Given the description of an element on the screen output the (x, y) to click on. 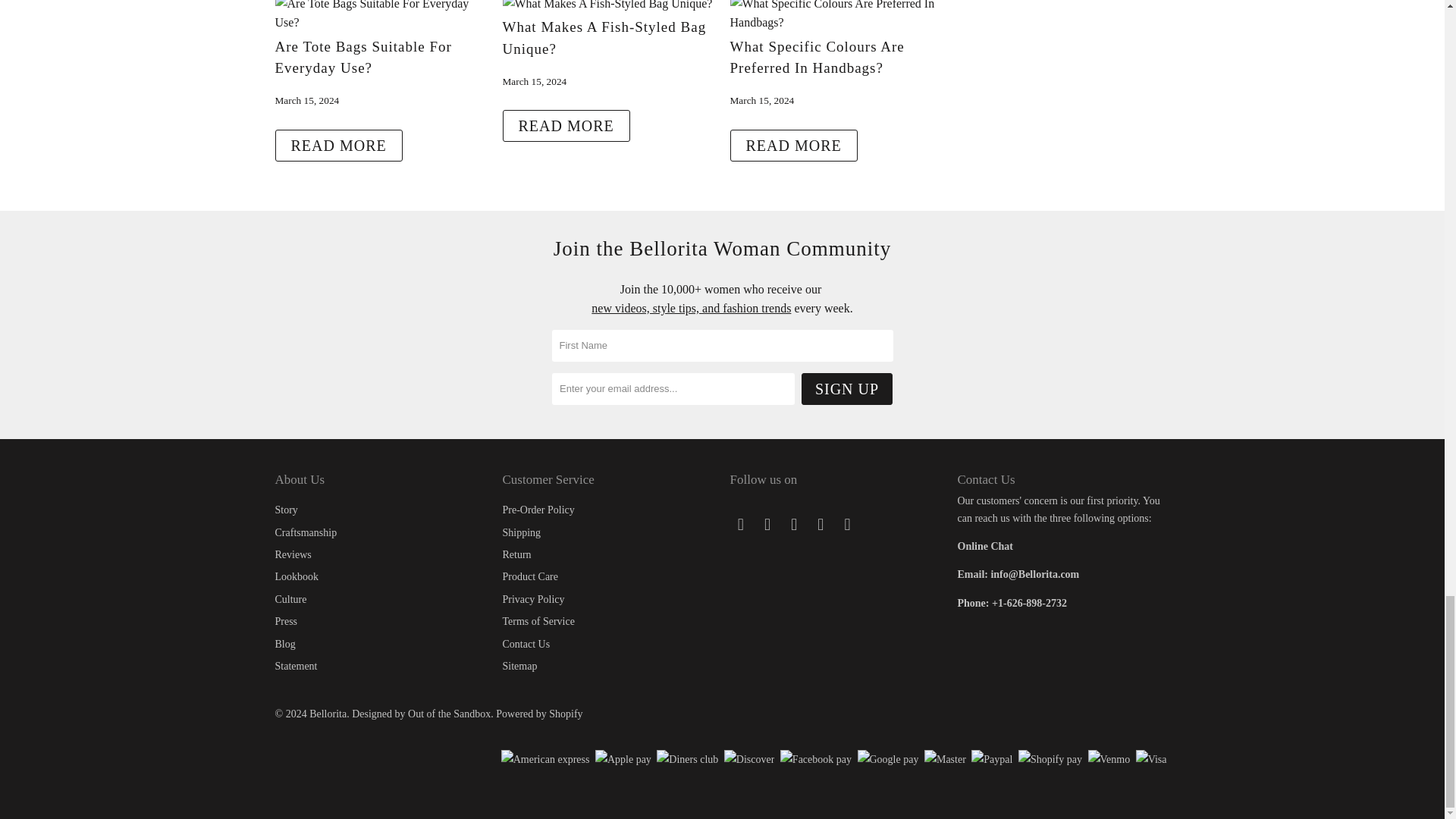
Are Tote Bags Suitable For Everyday Use? (380, 21)
Are Tote Bags Suitable For Everyday Use? (338, 145)
Sign Up (847, 388)
Are Tote Bags Suitable For Everyday Use? (363, 57)
What Makes A Fish-Styled Bag Unique? (606, 4)
